Given the description of an element on the screen output the (x, y) to click on. 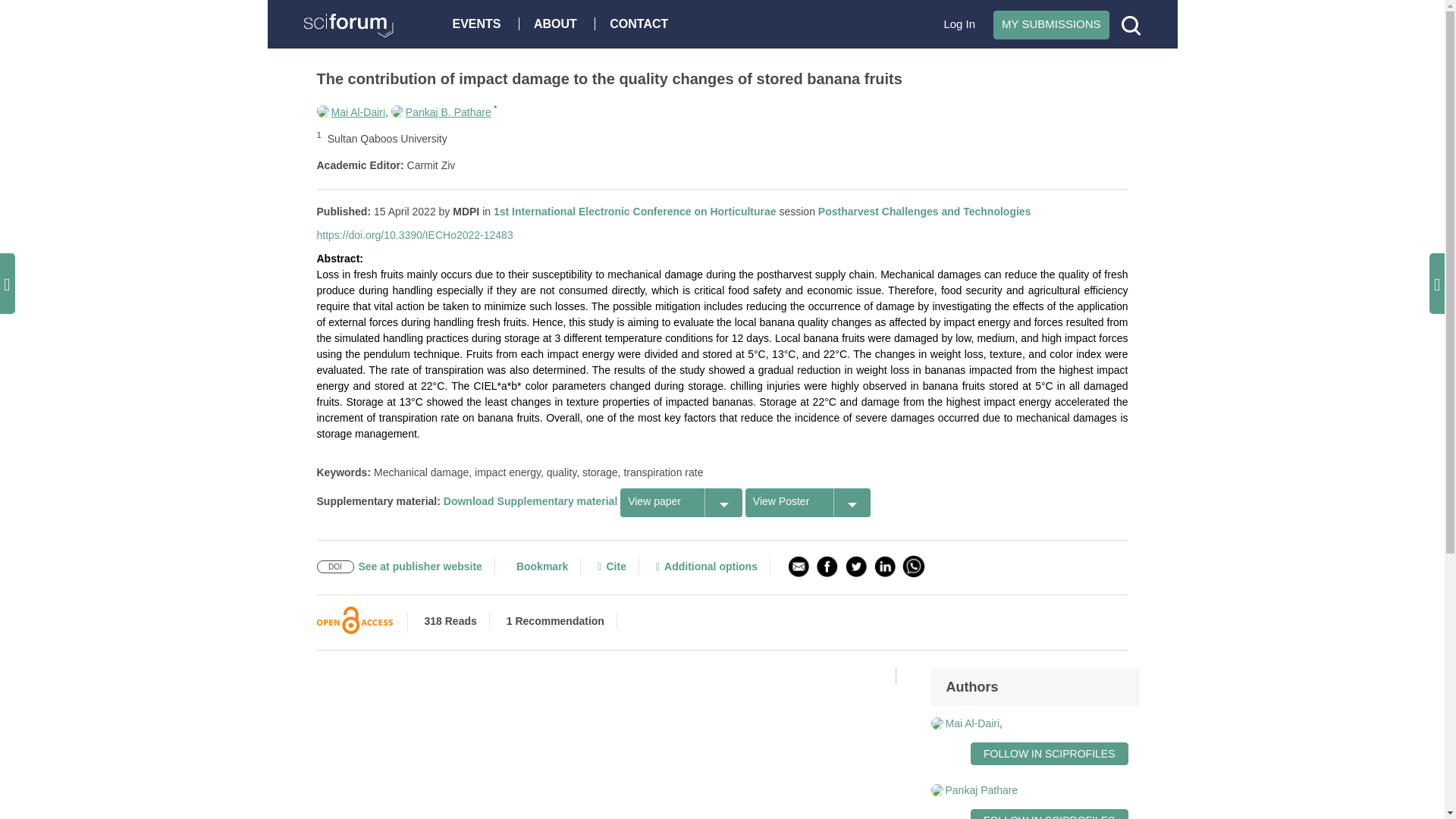
CONTACT (641, 23)
MY SUBMISSIONS (1050, 24)
ABOUT (558, 23)
EVENTS (480, 23)
Pankaj B. Pathare (441, 111)
Mai Al-Dairi (351, 111)
